Given the description of an element on the screen output the (x, y) to click on. 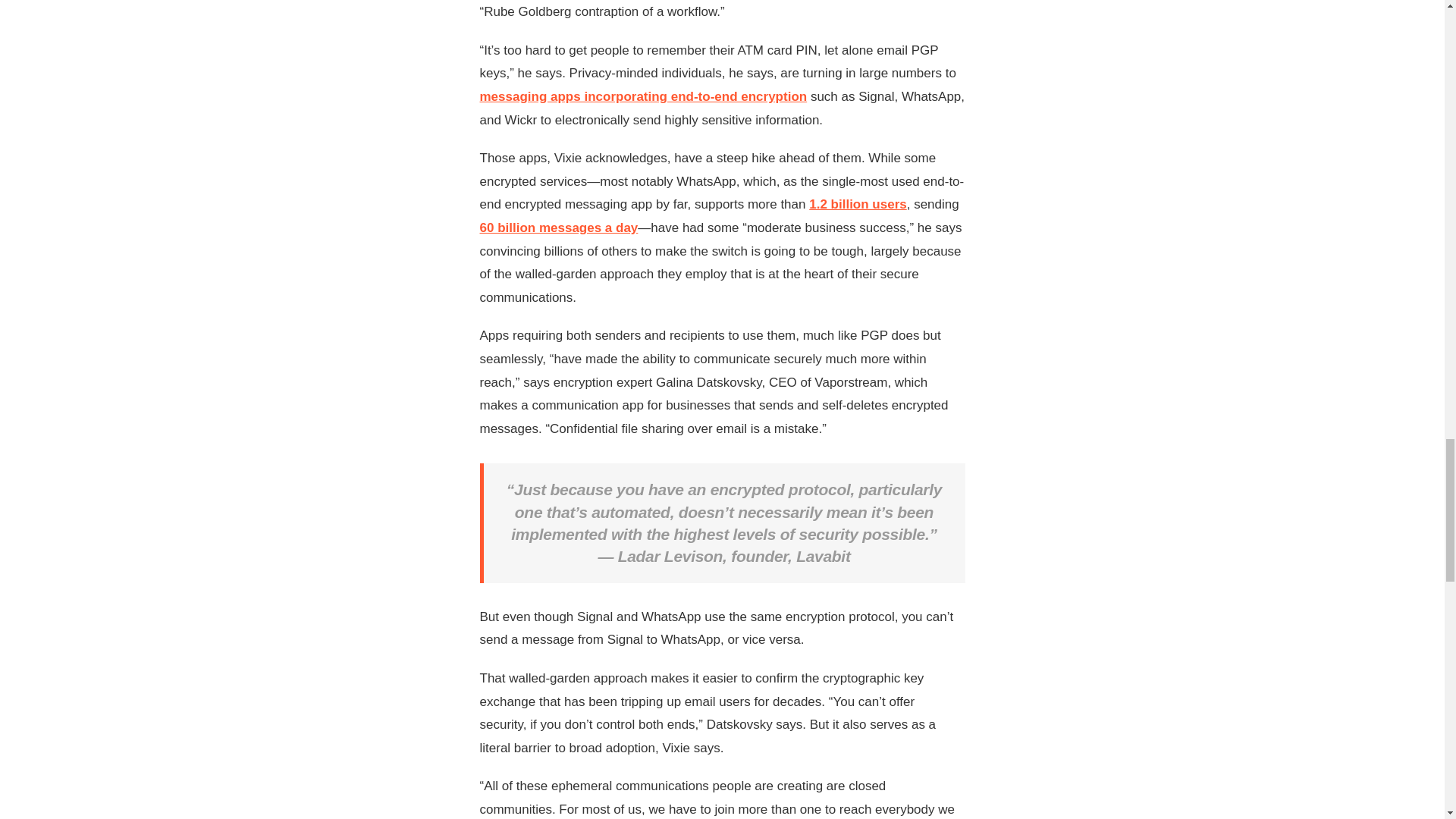
messaging apps incorporating end-to-end encryption (642, 96)
1.2 billion users (858, 204)
60 billion messages a day (558, 227)
